Given the description of an element on the screen output the (x, y) to click on. 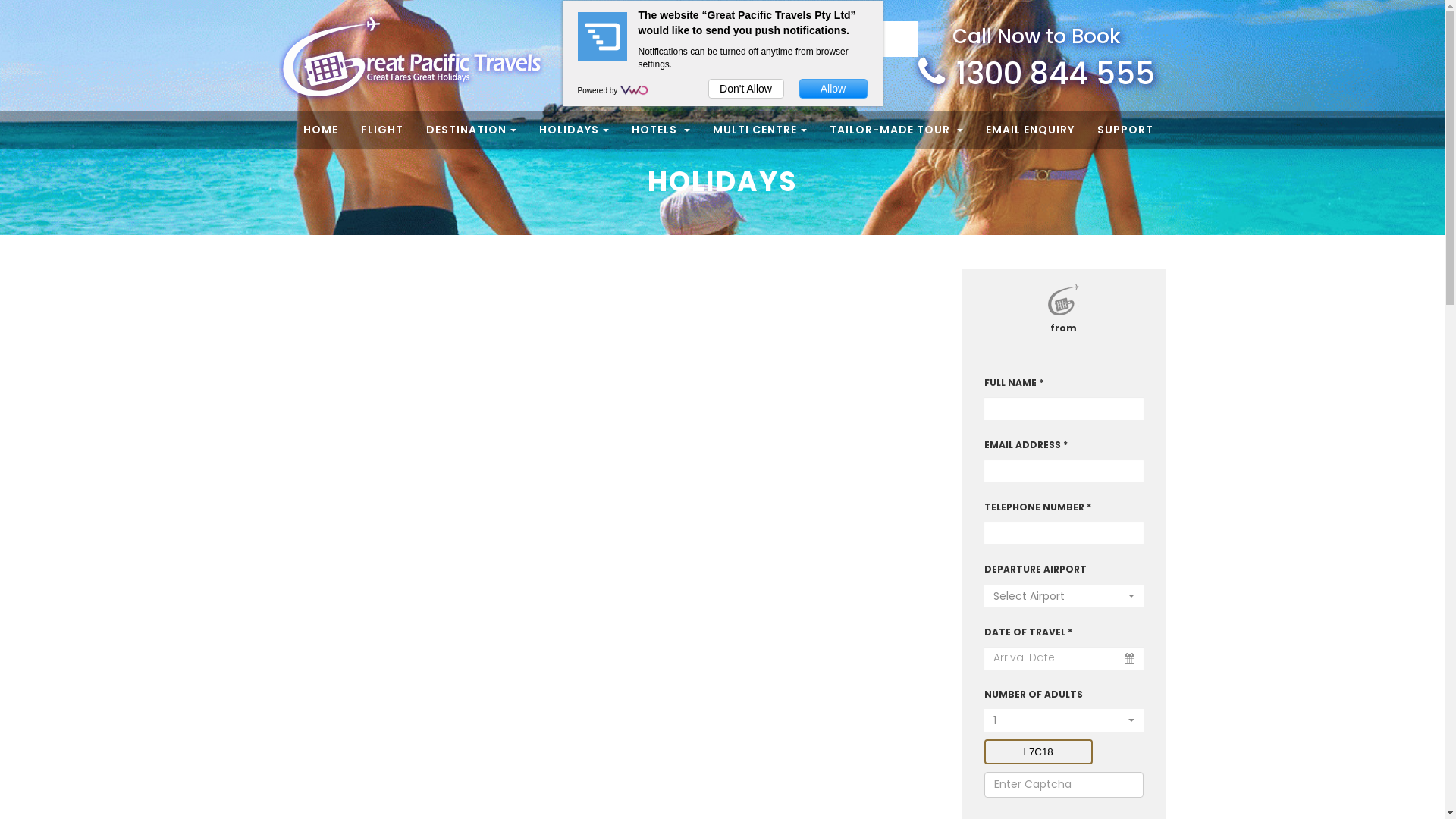
EMAIL ENQUIRY Element type: text (1029, 129)
TAILOR-MADE TOUR Element type: text (896, 129)
HOLIDAYS Element type: text (573, 129)
HOTELS Element type: text (659, 129)
1
  Element type: text (1063, 720)
Select Airport
  Element type: text (1063, 595)
SUPPORT Element type: text (1124, 129)
HOME Element type: text (320, 129)
Don't Allow Element type: text (746, 88)
COVID-19 Message Element type: text (835, 38)
MULTI CENTRE Element type: text (759, 129)
Powered by Element type: text (598, 90)
Allow Element type: text (833, 88)
DESTINATION Element type: text (471, 129)
FLIGHT Element type: text (381, 129)
